Given the description of an element on the screen output the (x, y) to click on. 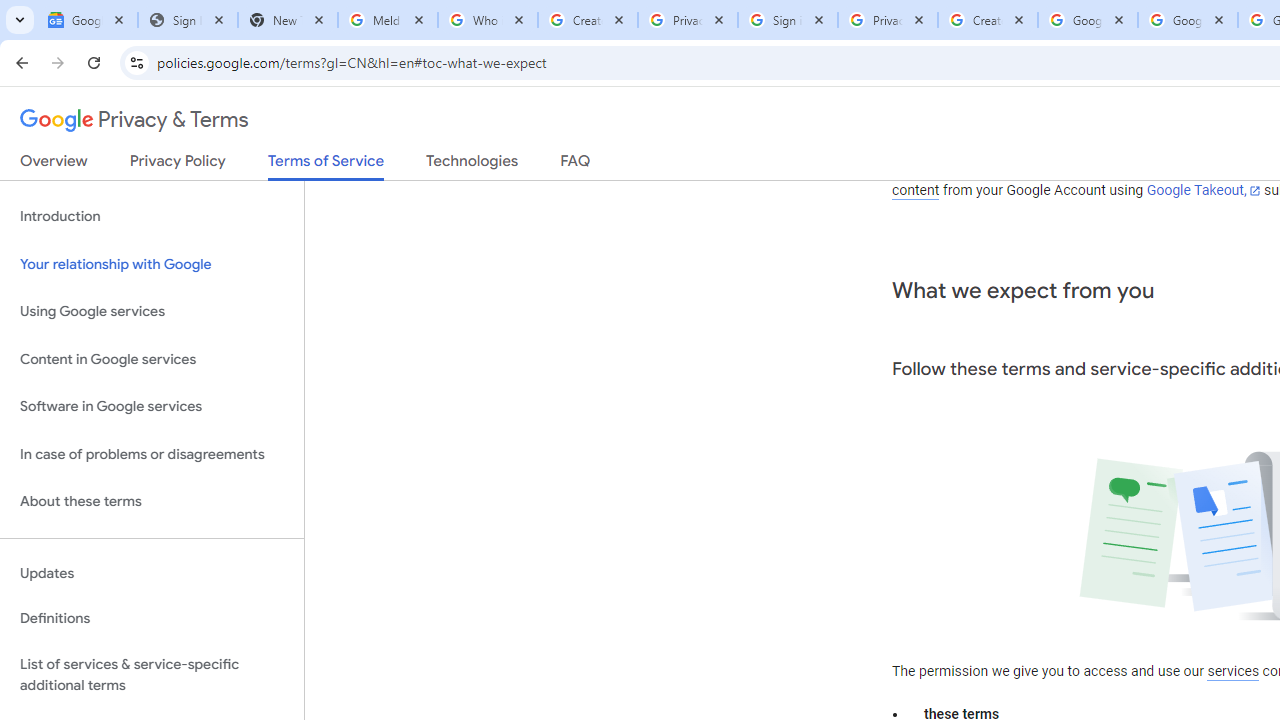
Using Google services (152, 312)
Sign in - Google Accounts (788, 20)
Create your Google Account (988, 20)
Google News (87, 20)
Google Takeout, (1202, 191)
About these terms (152, 502)
Create your Google Account (587, 20)
